Given the description of an element on the screen output the (x, y) to click on. 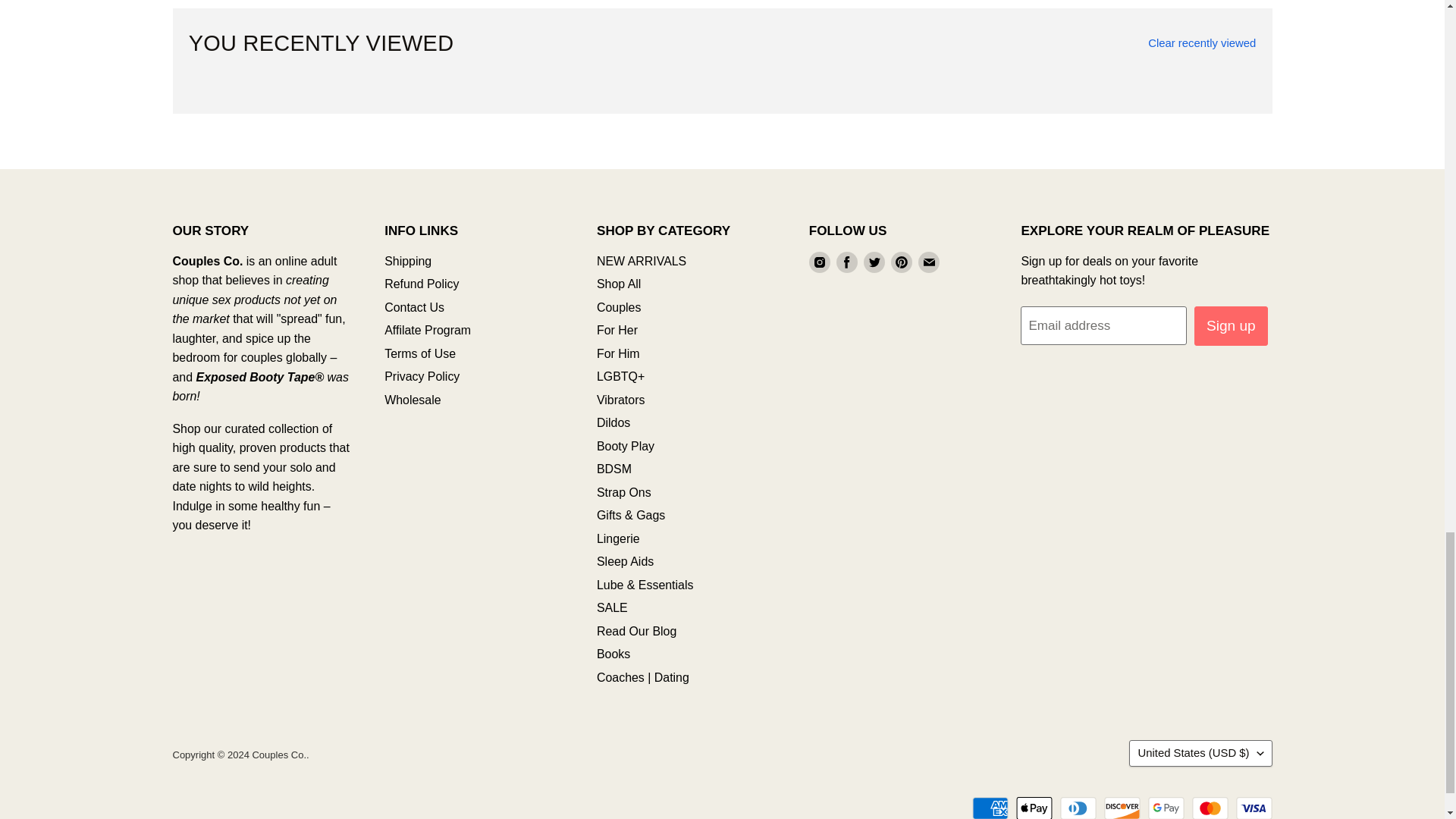
Facebook (846, 261)
Email (928, 261)
Twitter (874, 261)
Pinterest (901, 261)
Instagram (819, 261)
